Given the description of an element on the screen output the (x, y) to click on. 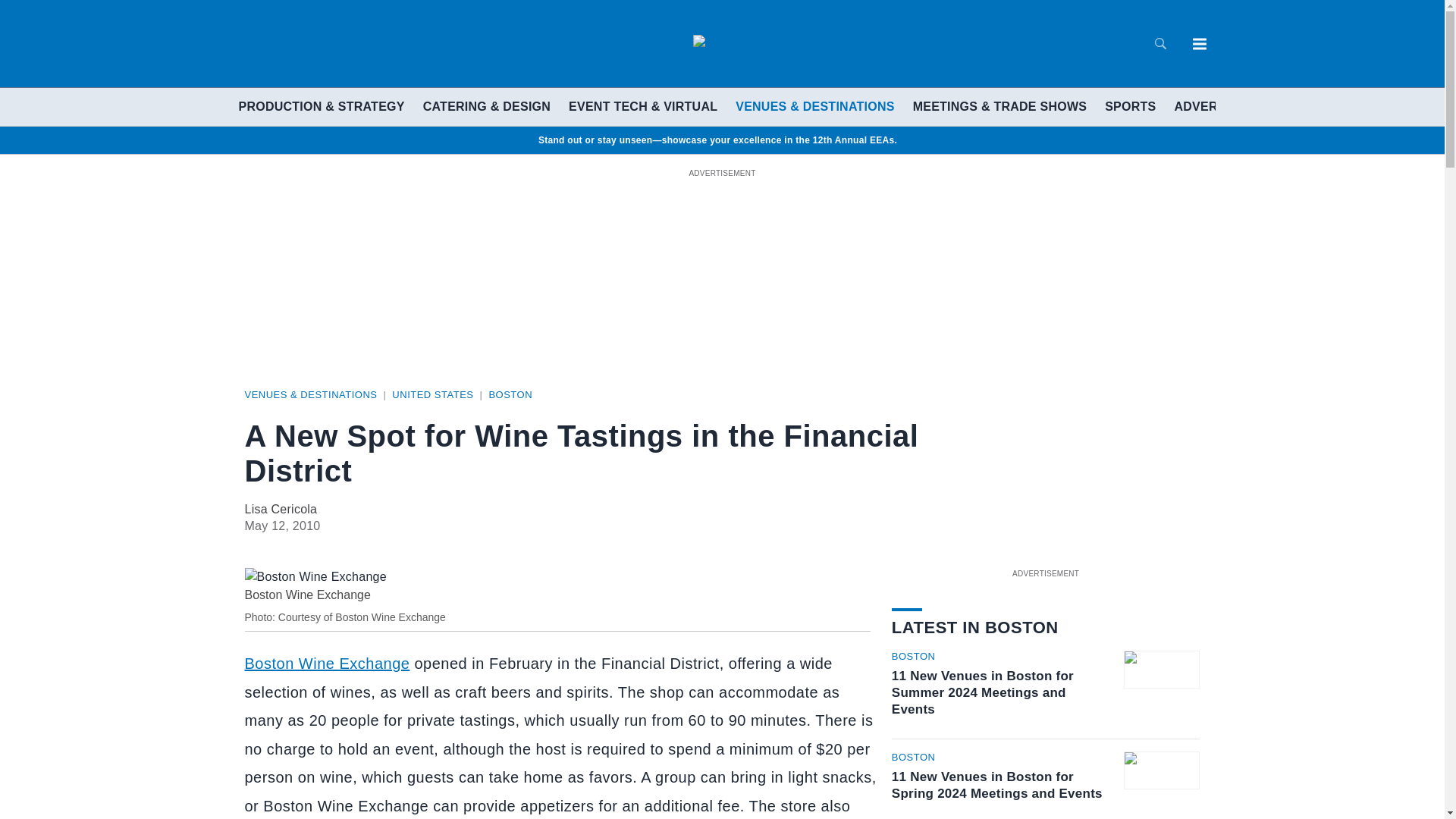
Boston (509, 394)
United States (432, 394)
EVENTS (1288, 106)
SPORTS (1130, 106)
ADVERTISE (1208, 106)
